Given the description of an element on the screen output the (x, y) to click on. 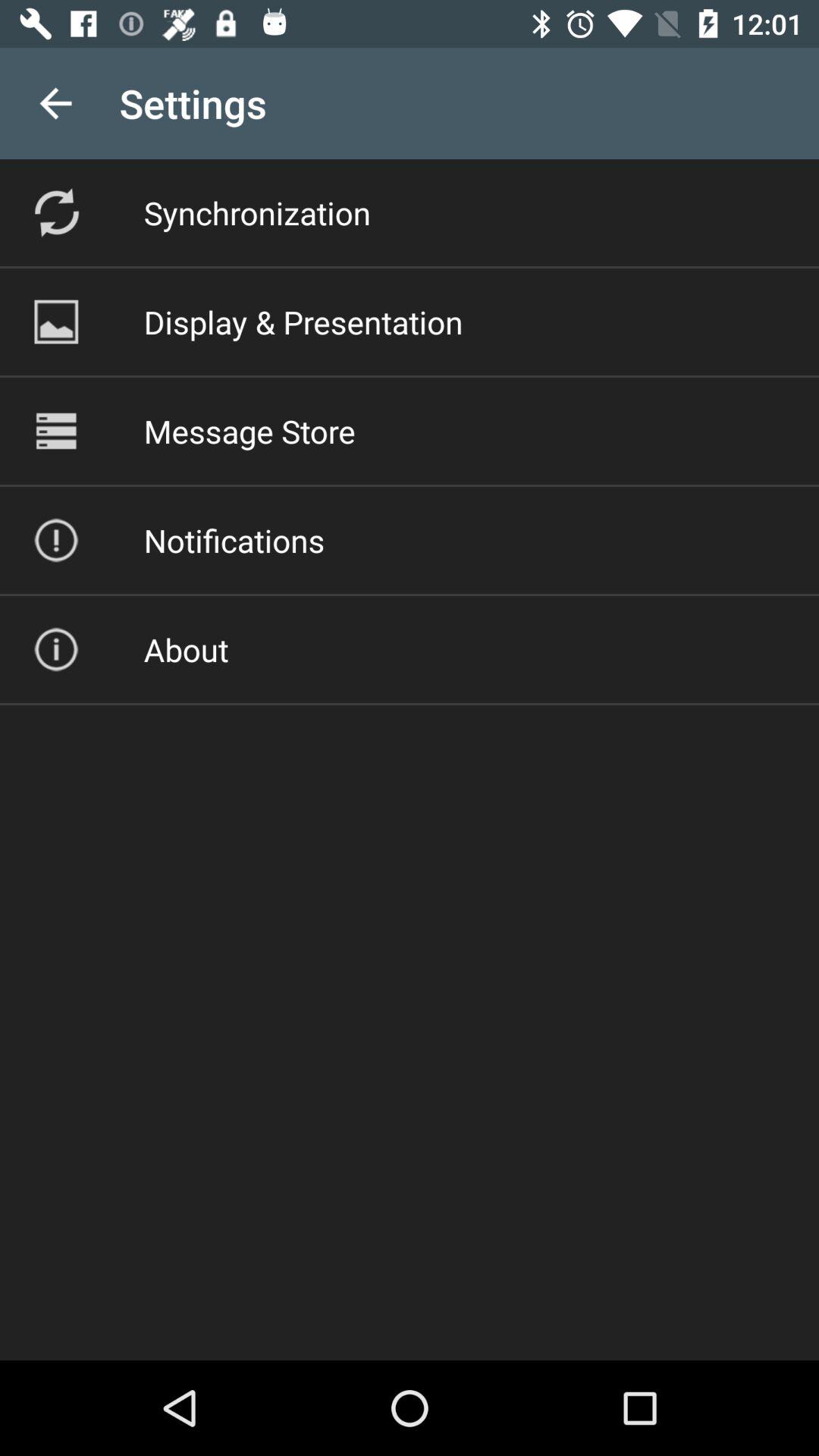
turn off the item below the notifications icon (185, 649)
